Given the description of an element on the screen output the (x, y) to click on. 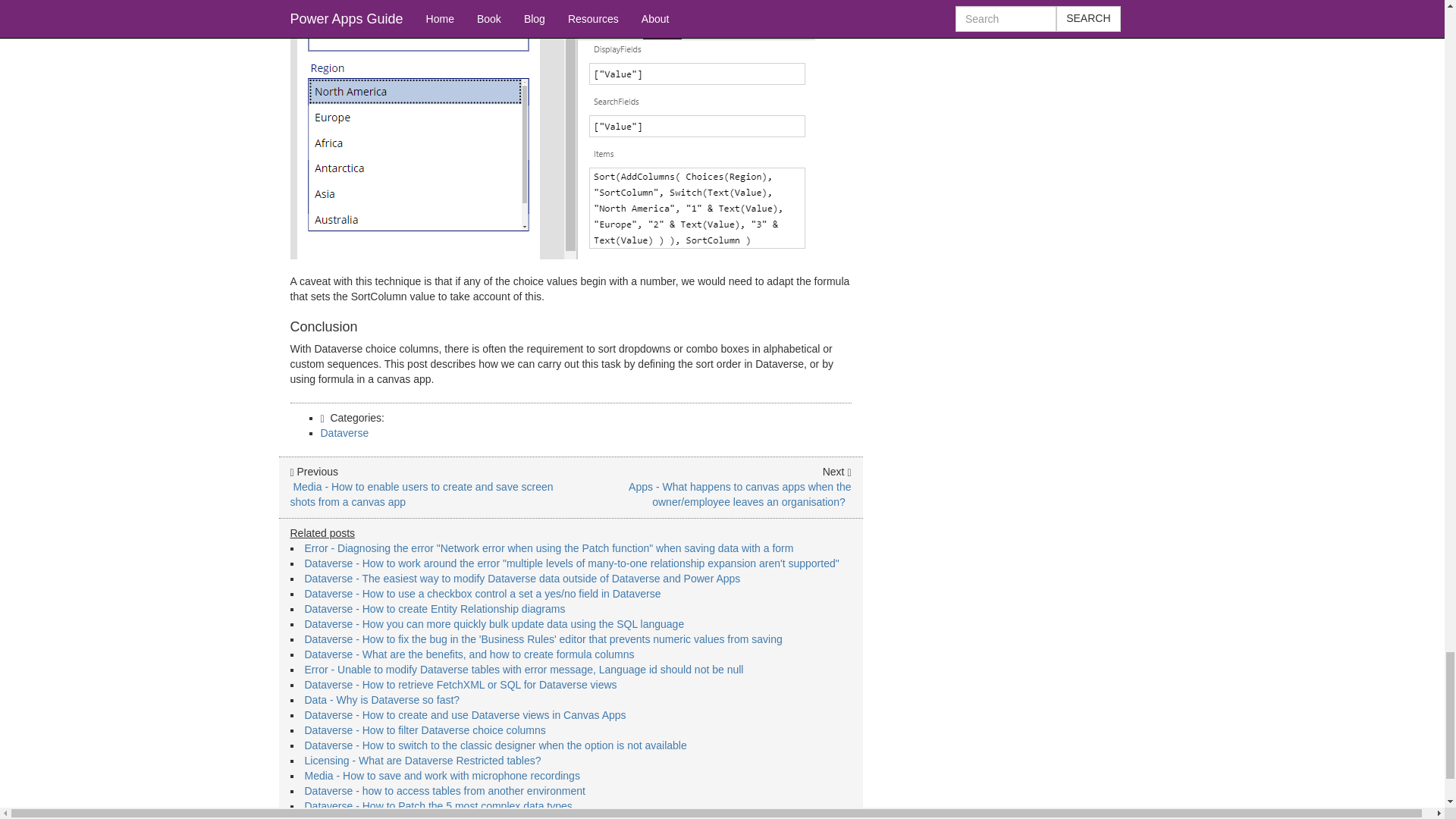
Dataverse - how to access tables from another environment (444, 790)
Media - How to save and work with microphone recordings (441, 775)
Dataverse - How to create Entity Relationship diagrams (435, 608)
Dataverse - How to Patch the 5 most complex data types (438, 806)
